Given the description of an element on the screen output the (x, y) to click on. 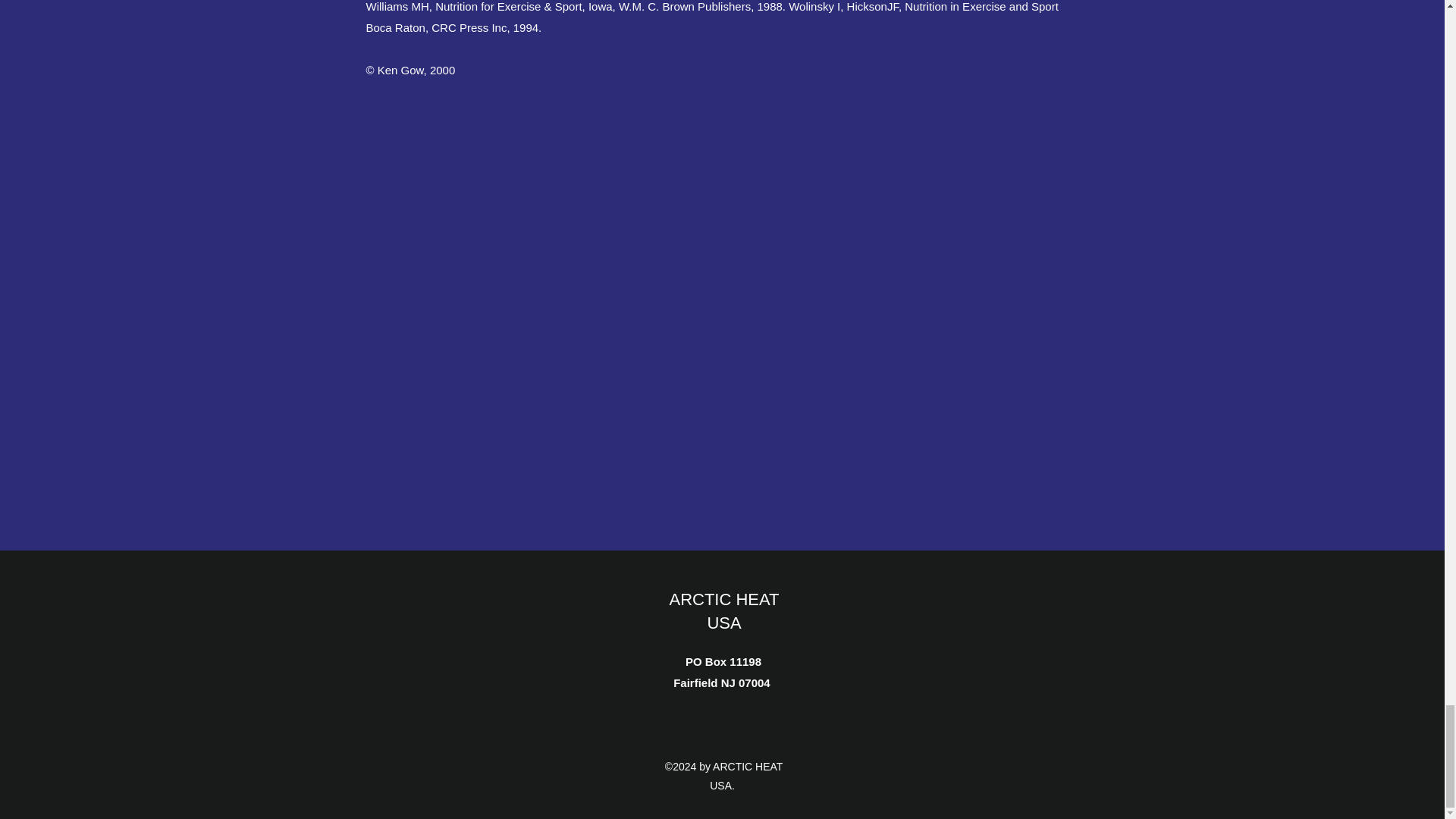
ARCTIC HEAT (748, 766)
ARCTIC HEAT USA (723, 610)
